Given the description of an element on the screen output the (x, y) to click on. 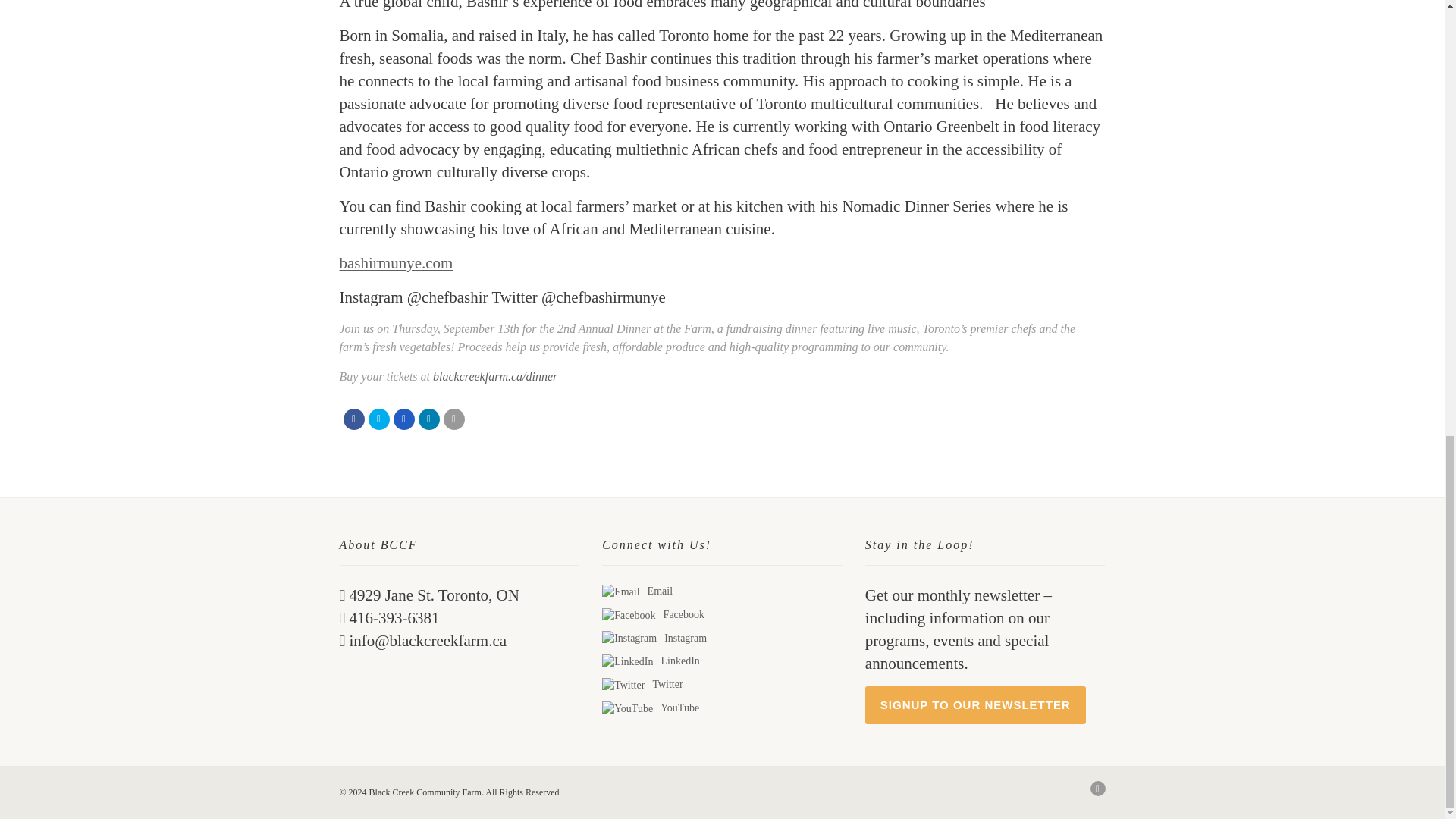
LinkedIn (627, 661)
Email (620, 591)
Instagram (629, 638)
Tweet (379, 418)
YouTube (627, 708)
Share on Linkedin (429, 418)
Twitter (623, 685)
Facebook (628, 615)
Share on Facebook (353, 418)
Email (453, 418)
